Given the description of an element on the screen output the (x, y) to click on. 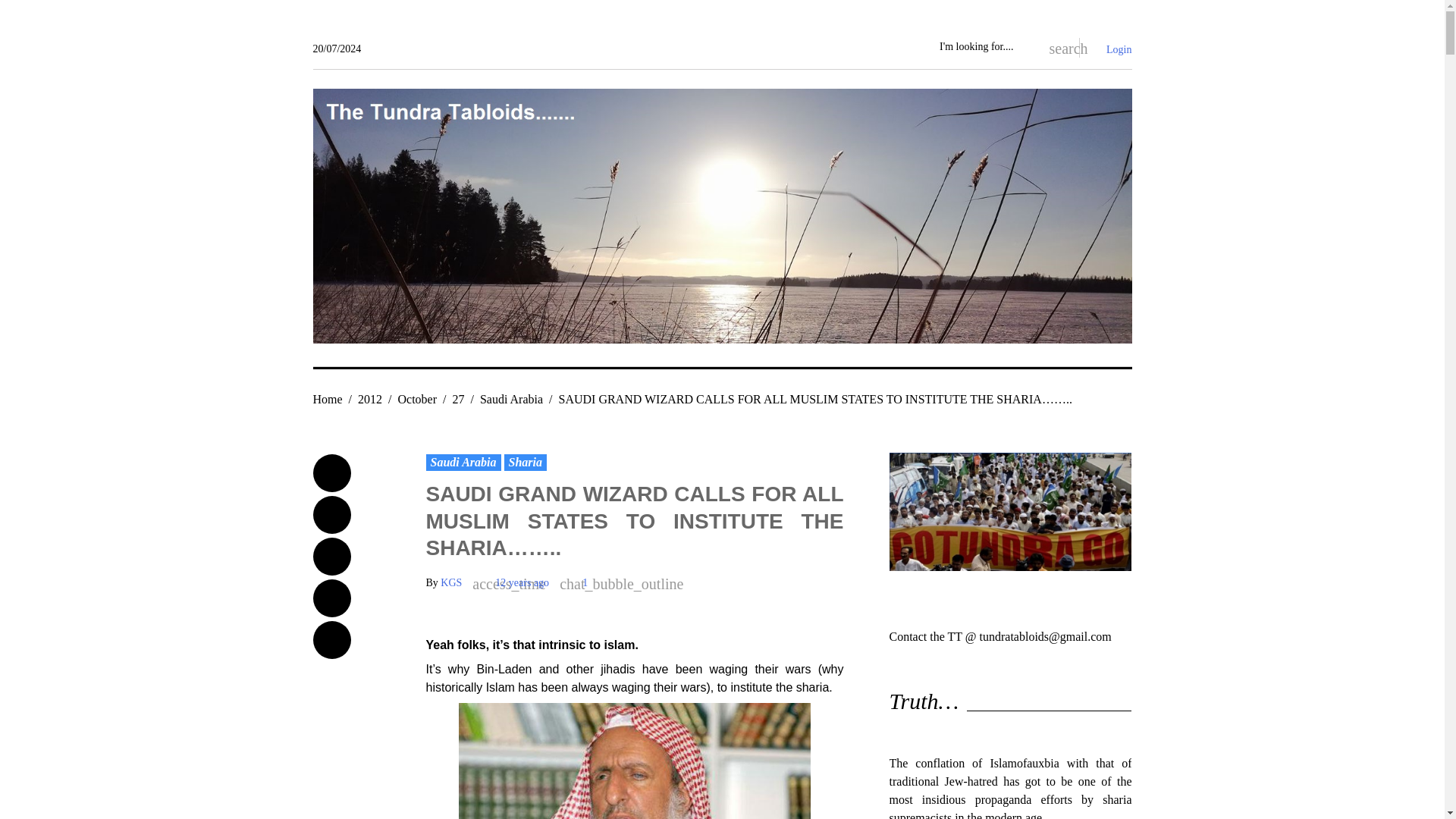
Search for: (984, 47)
Share on Facebook (331, 473)
Saudi Arabia (511, 399)
Sharia (524, 462)
October (417, 399)
2012 (369, 399)
saudi Grand-Mufti-Sheikh-Abdul-Aziz-Al-Asheikh (634, 760)
Share on Twitter (331, 514)
search (1056, 46)
Pinterest (331, 639)
Saudi Arabia (511, 399)
October (417, 399)
27 (457, 399)
Login (1118, 49)
27 (457, 399)
